Given the description of an element on the screen output the (x, y) to click on. 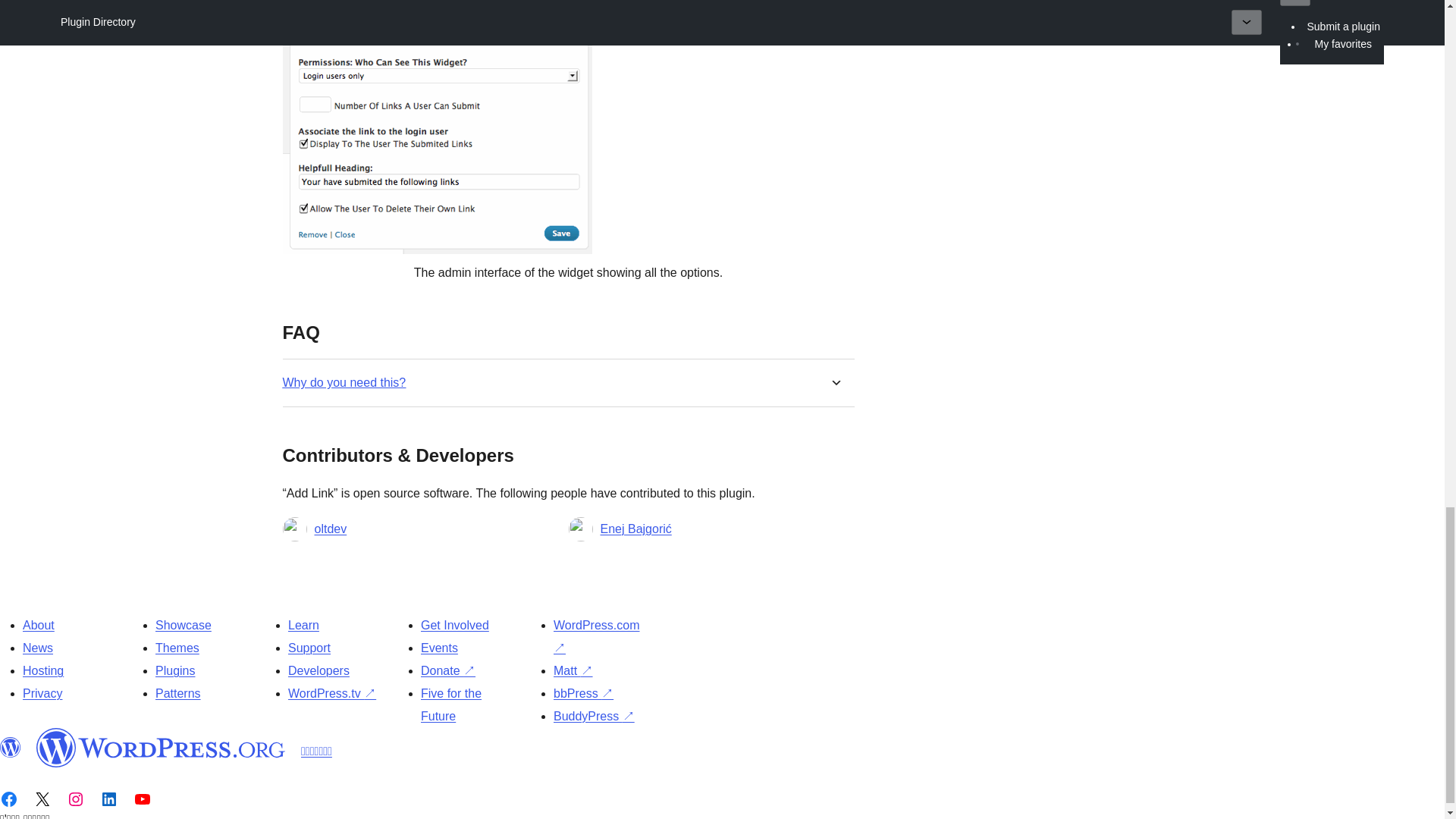
WordPress.org (10, 747)
WordPress.org (160, 747)
oltdev (330, 528)
Why do you need this? (344, 382)
